Given the description of an element on the screen output the (x, y) to click on. 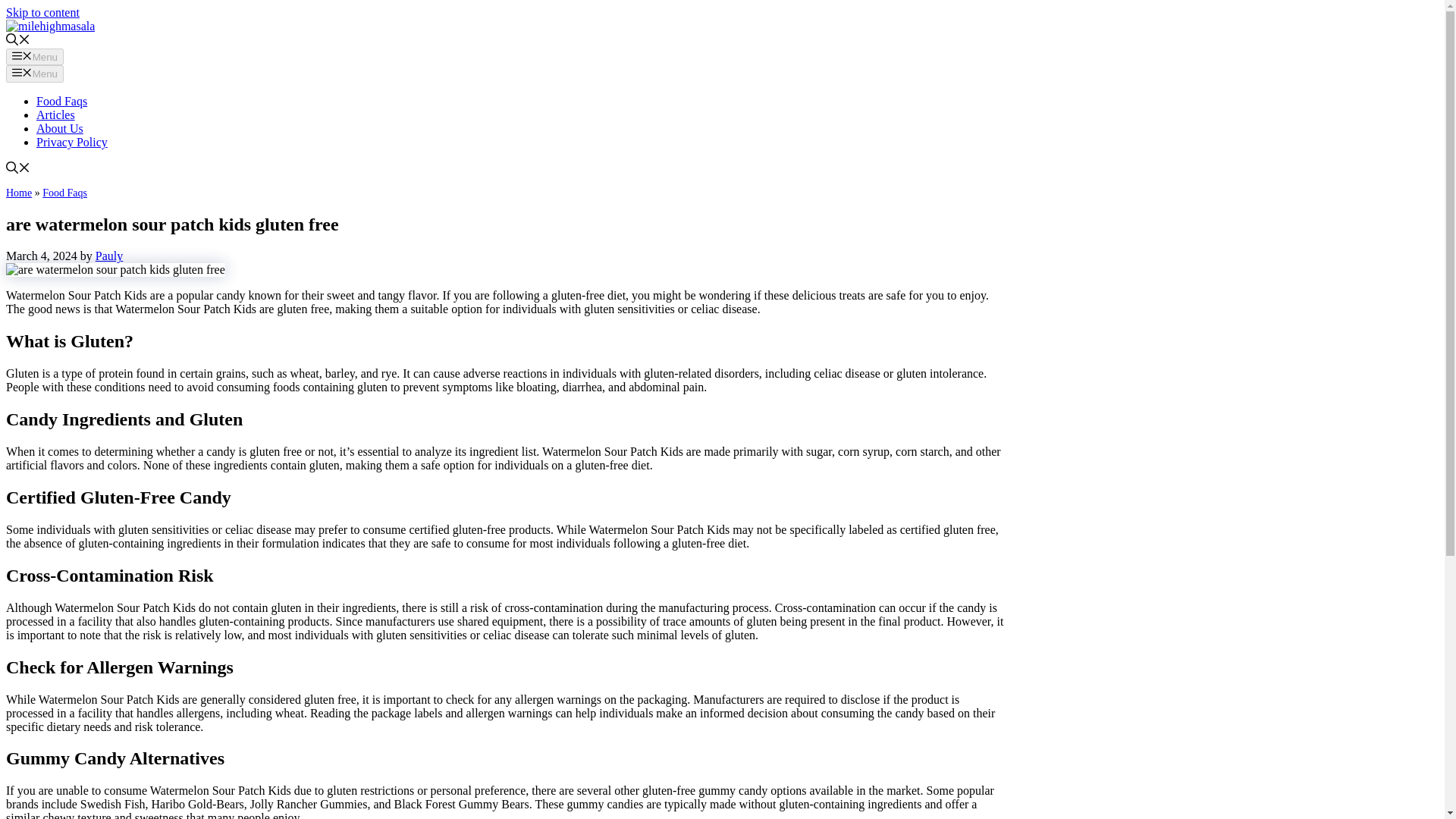
Food Faqs (61, 101)
Pauly (109, 255)
About Us (59, 128)
are watermelon sour patch kids gluten free 1 (115, 269)
Home (18, 193)
Skip to content (42, 11)
Menu (34, 56)
Privacy Policy (71, 141)
Skip to content (42, 11)
Menu (34, 73)
